Given the description of an element on the screen output the (x, y) to click on. 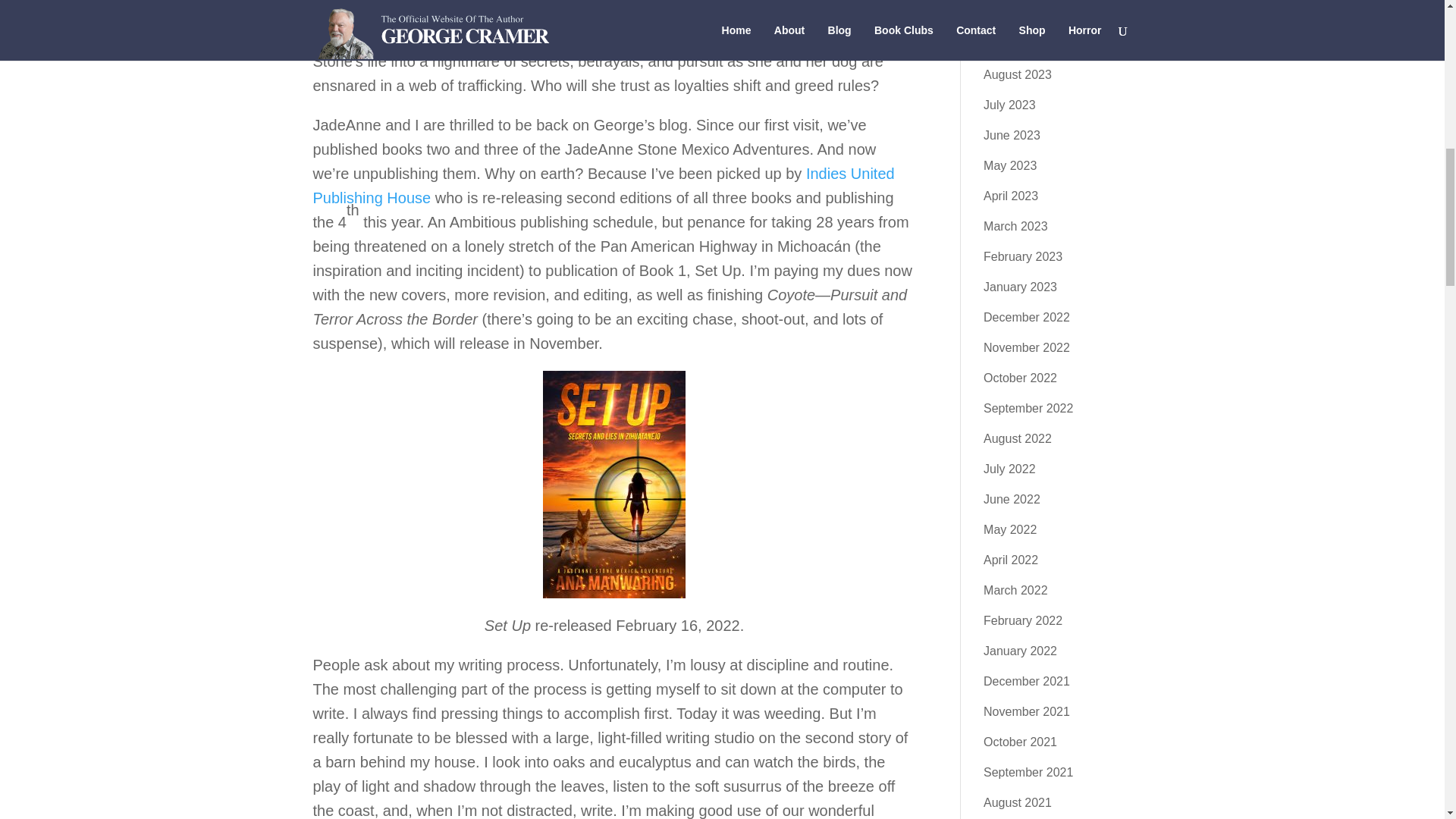
Indies United Publishing House (603, 185)
